Given the description of an element on the screen output the (x, y) to click on. 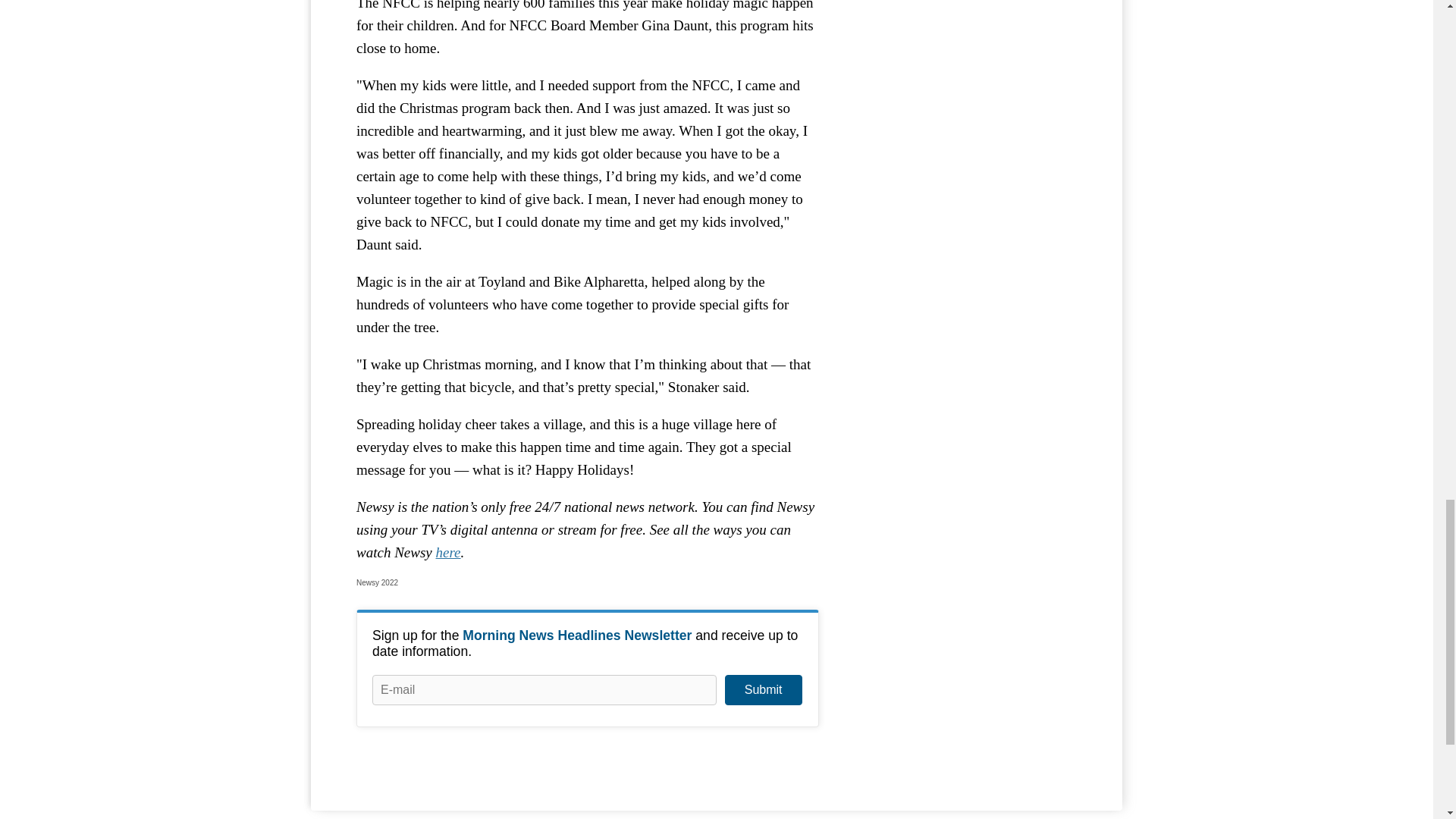
Submit (763, 689)
